Given the description of an element on the screen output the (x, y) to click on. 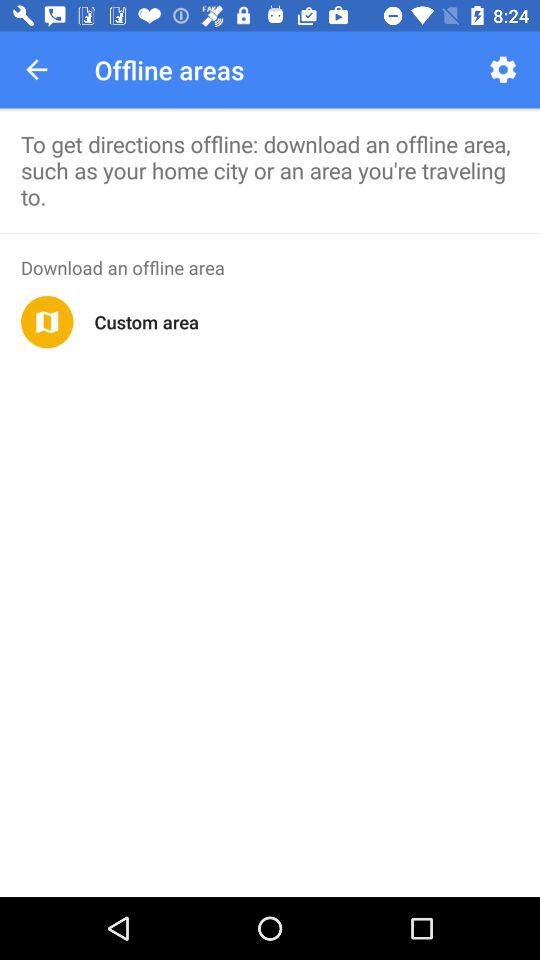
launch app to the left of offline areas icon (36, 69)
